Given the description of an element on the screen output the (x, y) to click on. 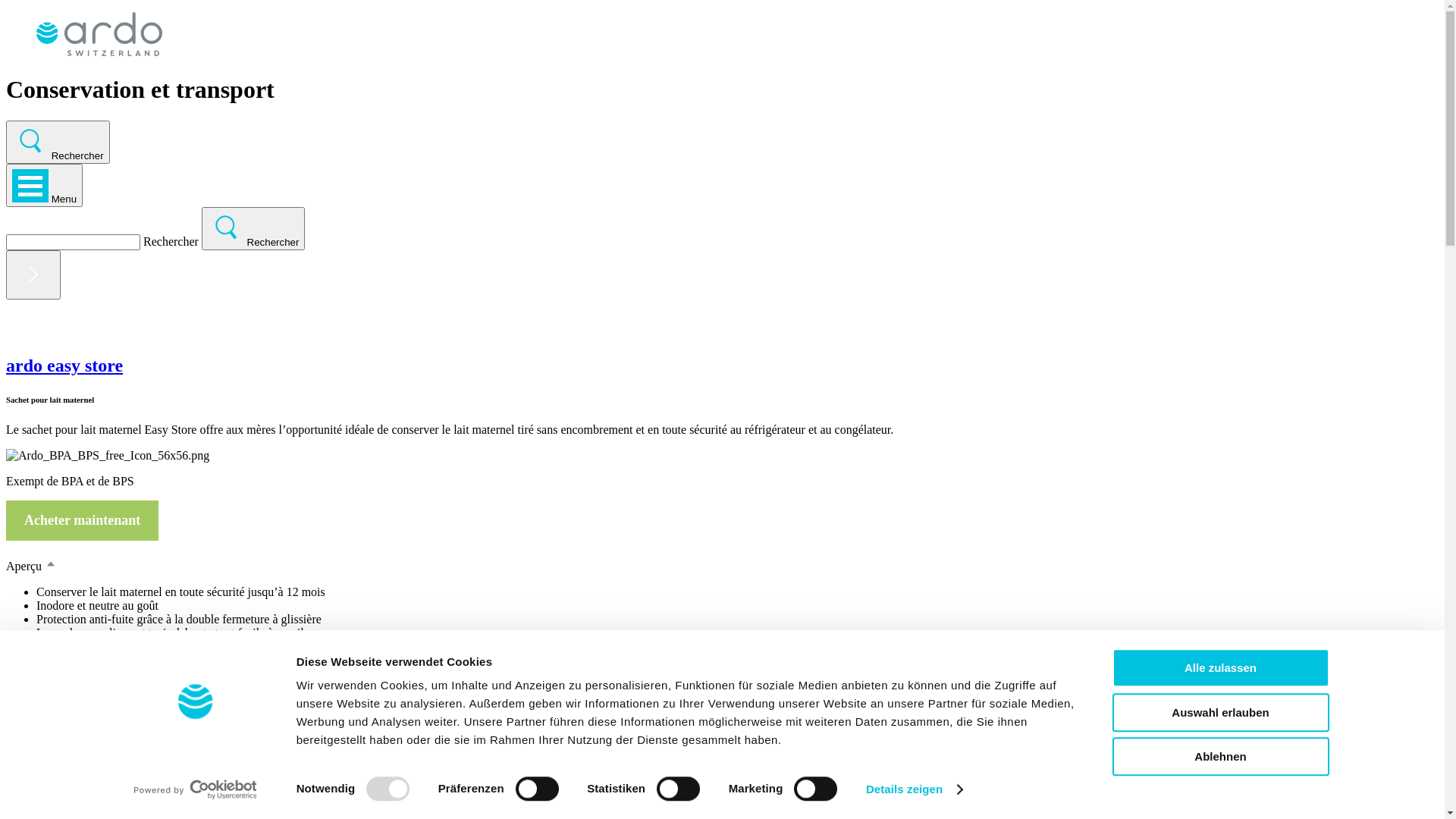
Alle zulassen Element type: text (1219, 667)
Ablehnen Element type: text (1219, 756)
Menu Element type: text (44, 185)
Auswahl erlauben Element type: text (1219, 712)
ardo bottle set Element type: text (722, 731)
Rechercher Element type: text (57, 141)
ardo easy store Element type: text (722, 365)
Rechercher Element type: text (253, 228)
Details zeigen Element type: text (914, 789)
